Given the description of an element on the screen output the (x, y) to click on. 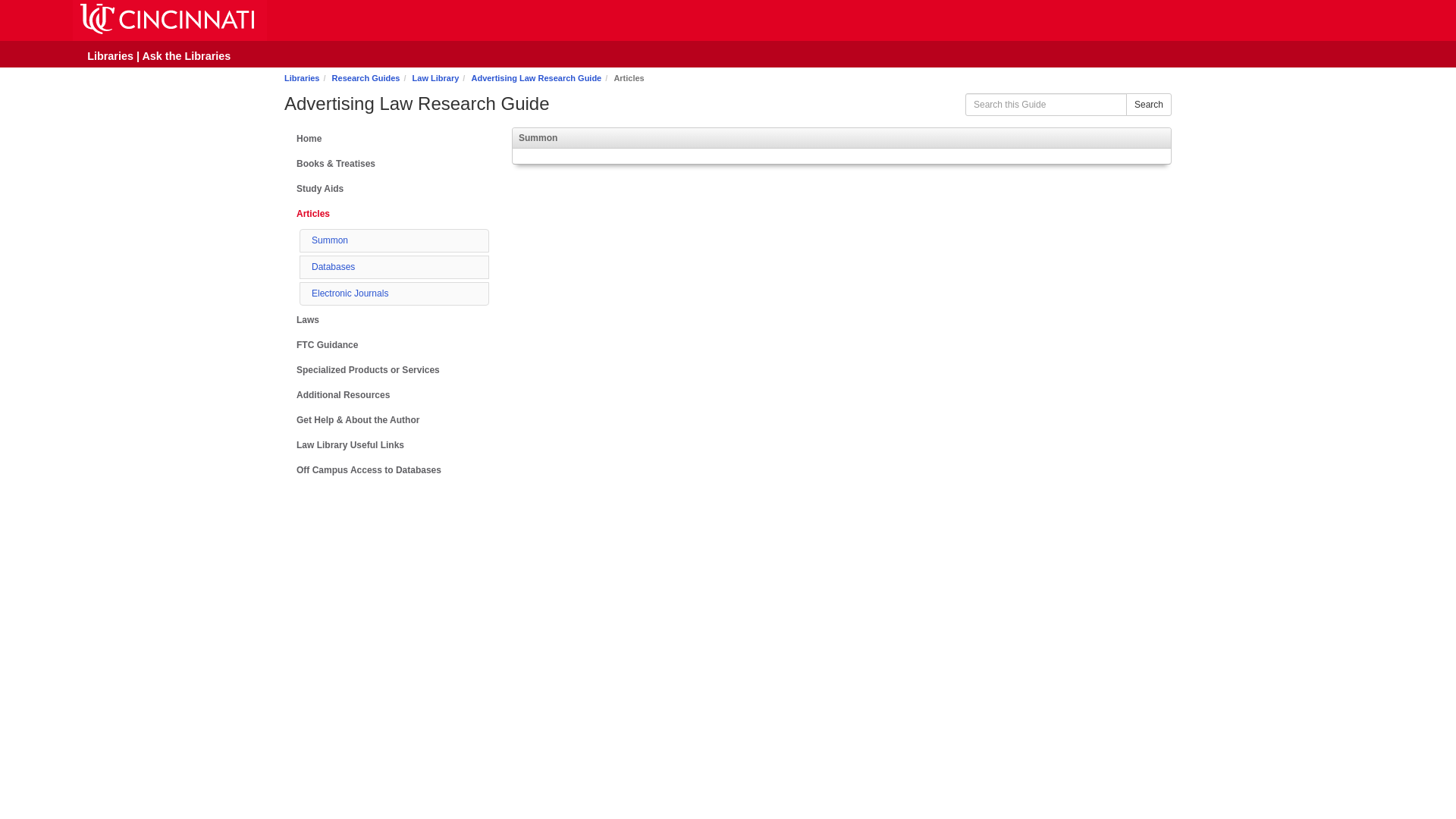
Ask the Libraries (185, 55)
Advertising Law Research Guide (535, 77)
Research Guides (365, 77)
Law Library (436, 77)
FTC Guidance (386, 345)
Home (386, 138)
Summon (329, 240)
Off Campus Access to Databases (386, 470)
Law Library Useful Links (386, 445)
Search (1148, 104)
